Given the description of an element on the screen output the (x, y) to click on. 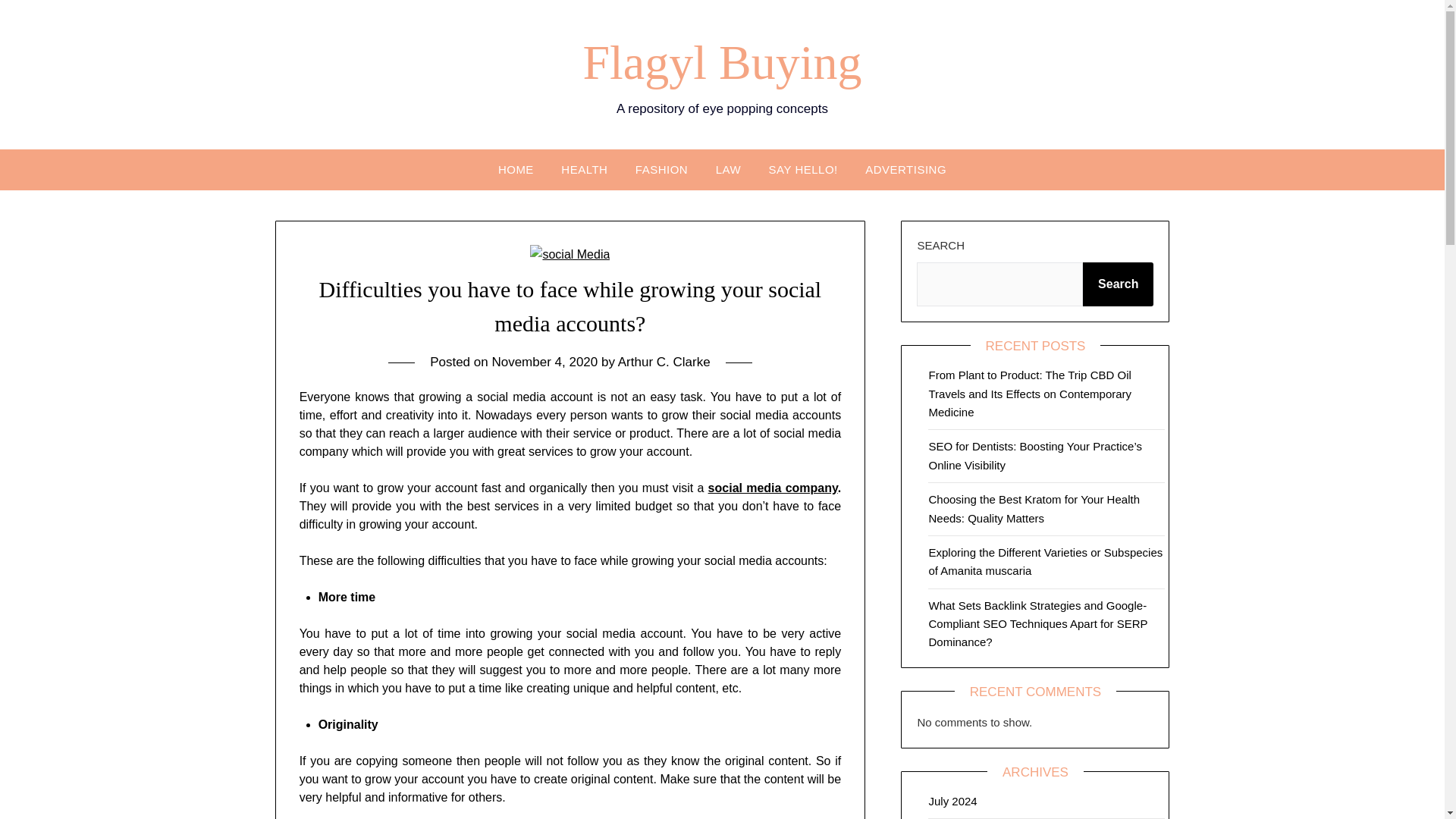
FASHION (661, 168)
HEALTH (584, 168)
July 2024 (952, 800)
ADVERTISING (905, 168)
Flagyl Buying (721, 62)
HOME (516, 168)
Search (1118, 284)
social media company (772, 487)
November 4, 2020 (544, 361)
SAY HELLO! (803, 168)
Arthur C. Clarke (663, 361)
